Given the description of an element on the screen output the (x, y) to click on. 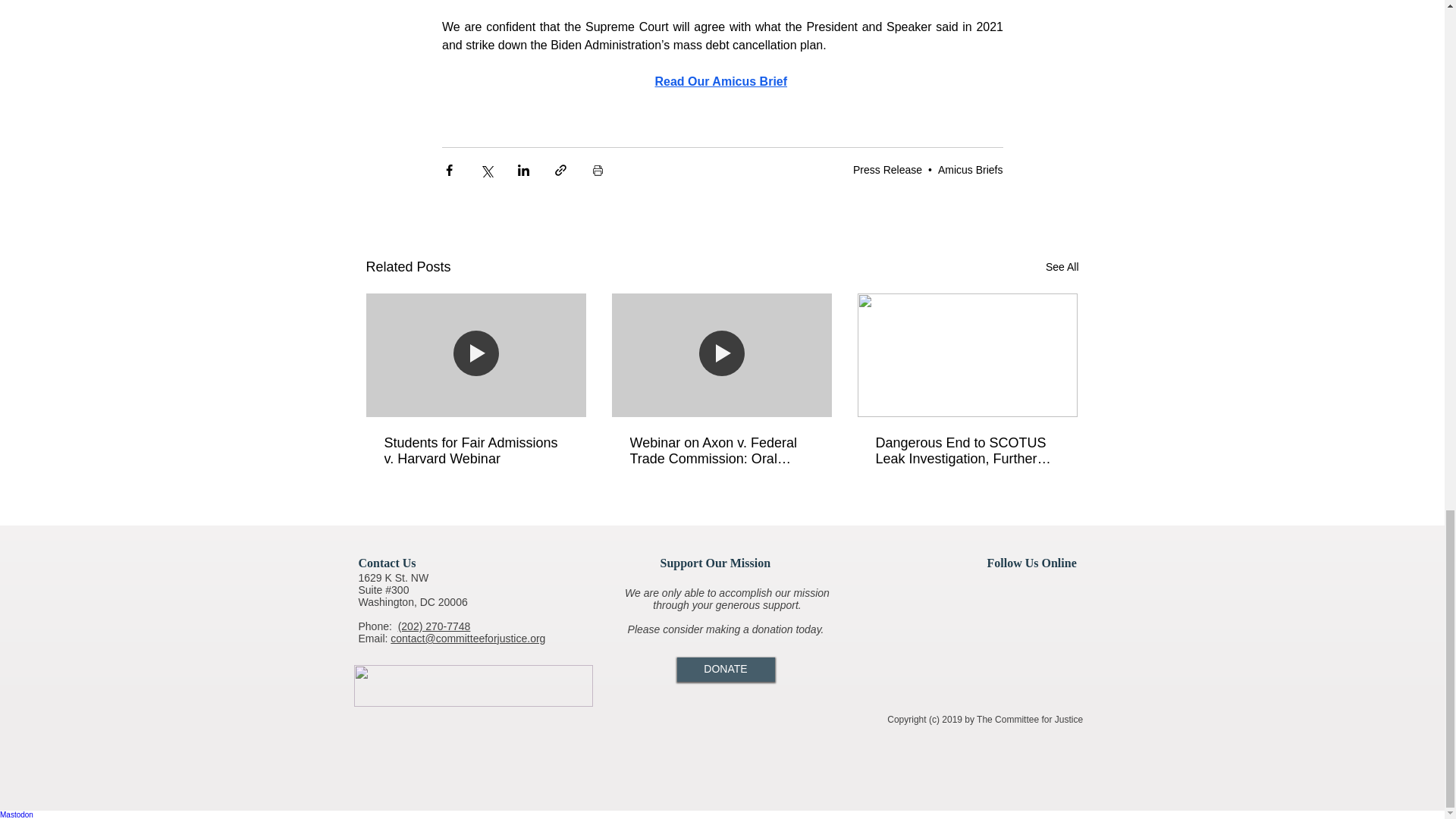
Students for Fair Admissions v. Harvard Webinar (475, 450)
Email:  (374, 638)
Read Our Amicus Brief (720, 81)
Amicus Briefs (970, 169)
Press Release (887, 169)
See All (1061, 267)
DONATE (725, 669)
